Given the description of an element on the screen output the (x, y) to click on. 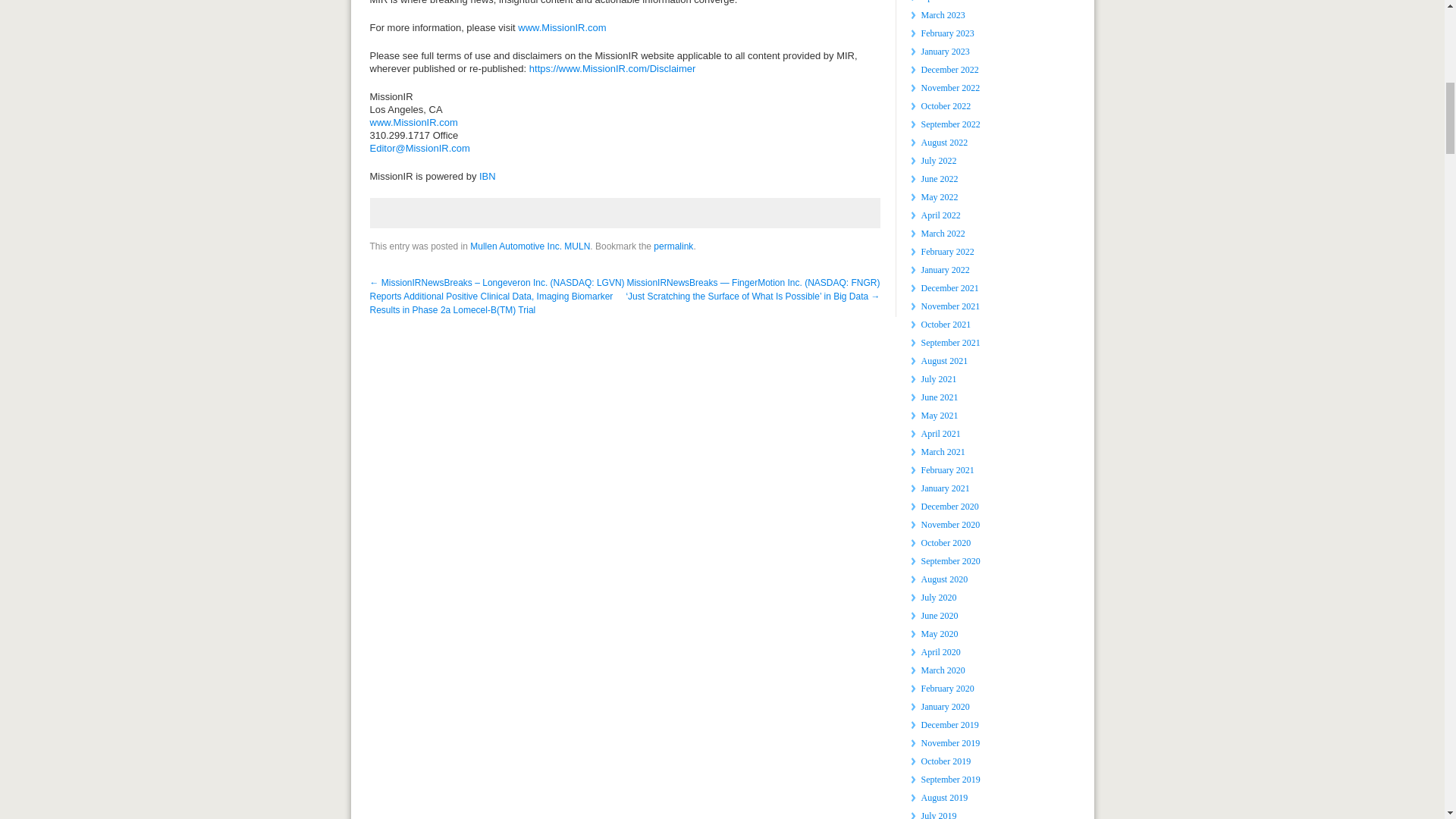
www.MissionIR.com (561, 27)
IBN (487, 175)
www.MissionIR.com (413, 122)
permalink (673, 245)
Mullen Automotive Inc. MULN (529, 245)
